Given the description of an element on the screen output the (x, y) to click on. 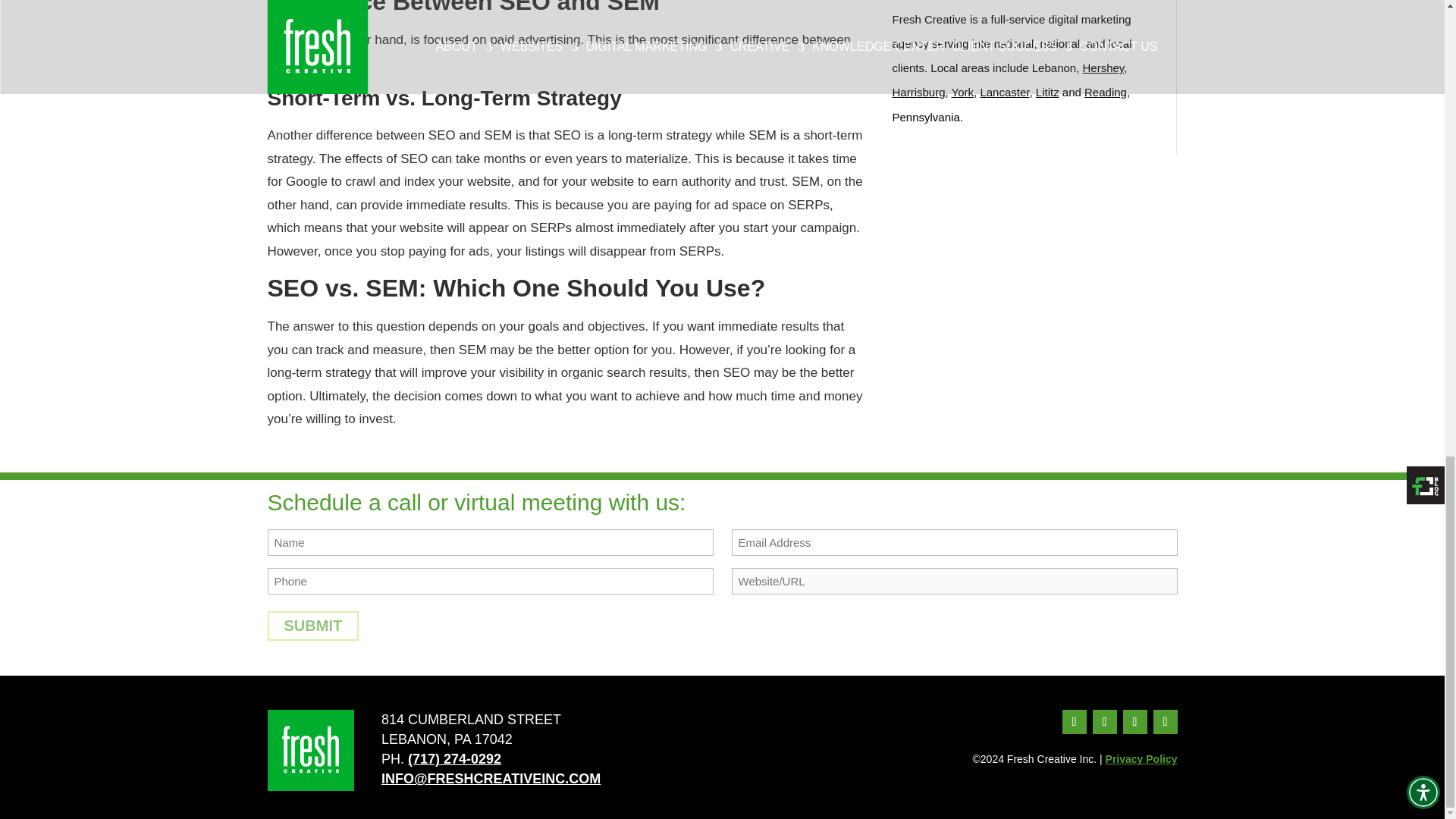
Follow on Youtube (1164, 721)
Follow on Instagram (1104, 721)
fresh-logo-2022-homecrisp (309, 750)
Follow on LinkedIn (1134, 721)
Follow on Facebook (1073, 721)
Submit (312, 625)
